Given the description of an element on the screen output the (x, y) to click on. 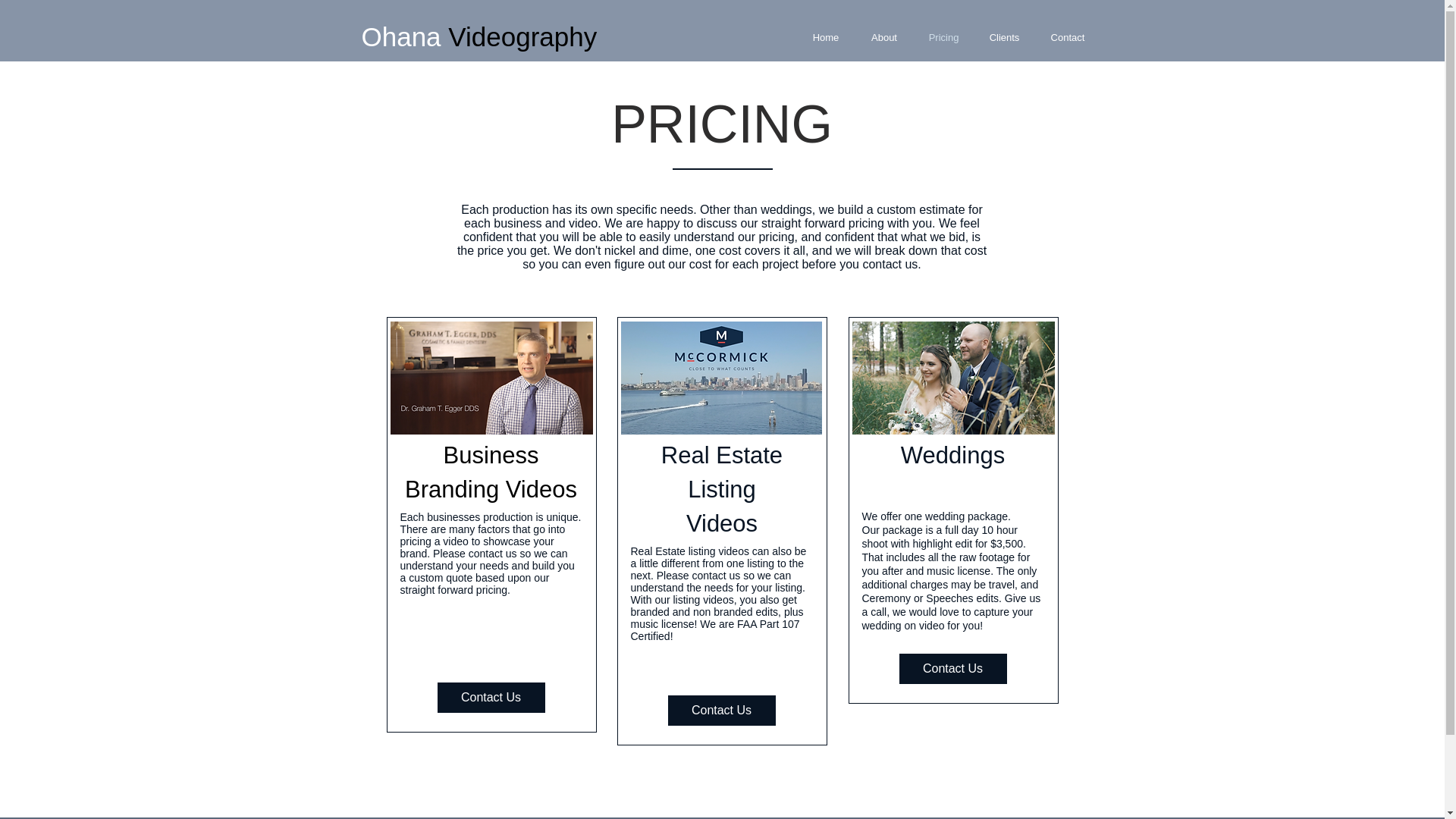
About (885, 36)
Contact Us (953, 668)
Pricing (943, 36)
Clients (1003, 36)
Contact (1066, 36)
Contact Us (490, 697)
Contact Us (720, 710)
Home (825, 36)
